Given the description of an element on the screen output the (x, y) to click on. 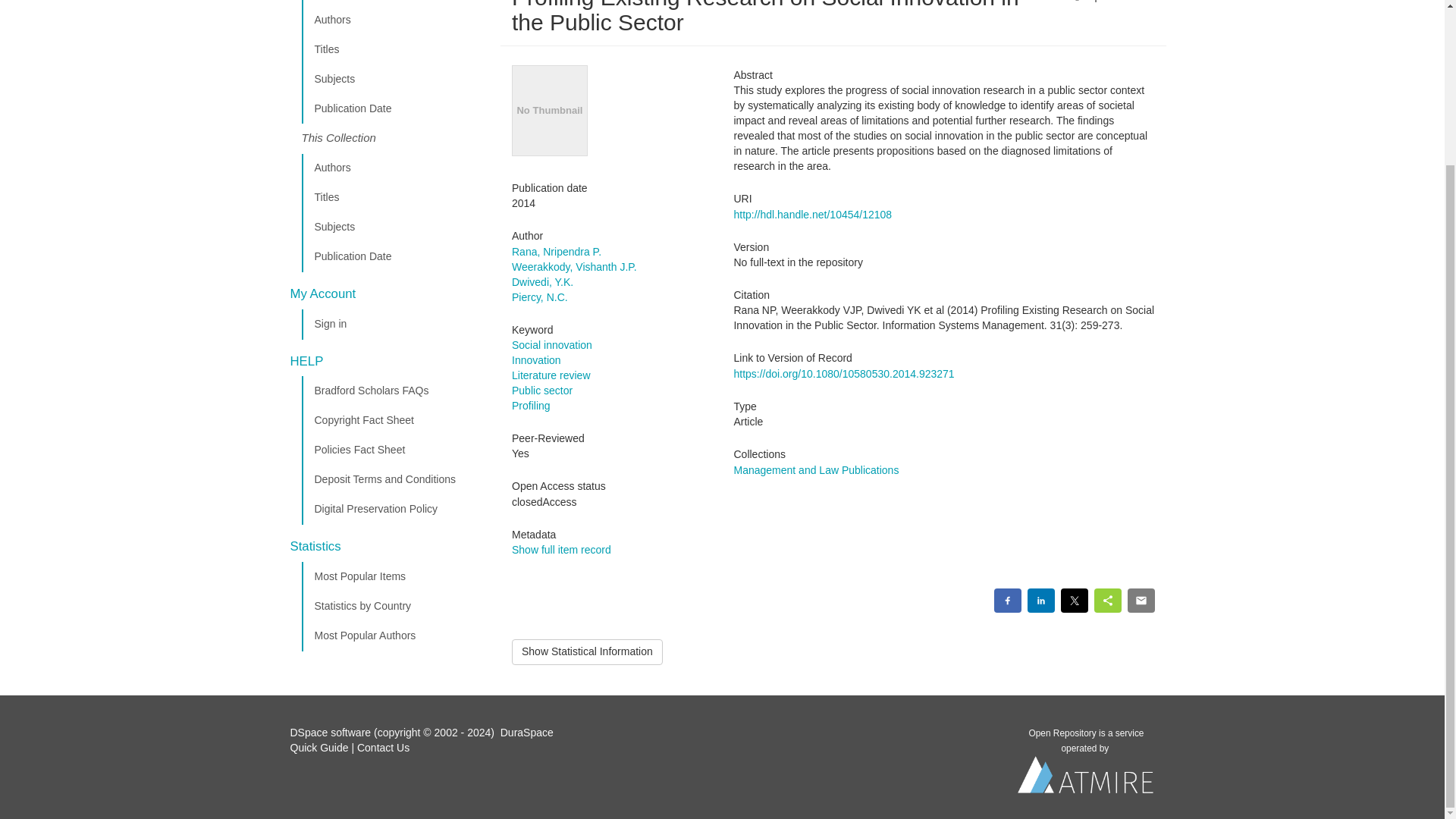
Deposit Terms and Conditions (395, 480)
Export (1098, 4)
This Collection (395, 138)
Policies Fact Sheet (395, 450)
Authors (395, 168)
Copyright Fact Sheet (395, 420)
Sign in (395, 324)
Most Popular Authors (395, 635)
Authors (395, 20)
Statistics by Country (395, 606)
Titles (395, 197)
Publication Date (395, 109)
Subjects (395, 227)
Subjects (395, 79)
Publication Date (395, 256)
